Given the description of an element on the screen output the (x, y) to click on. 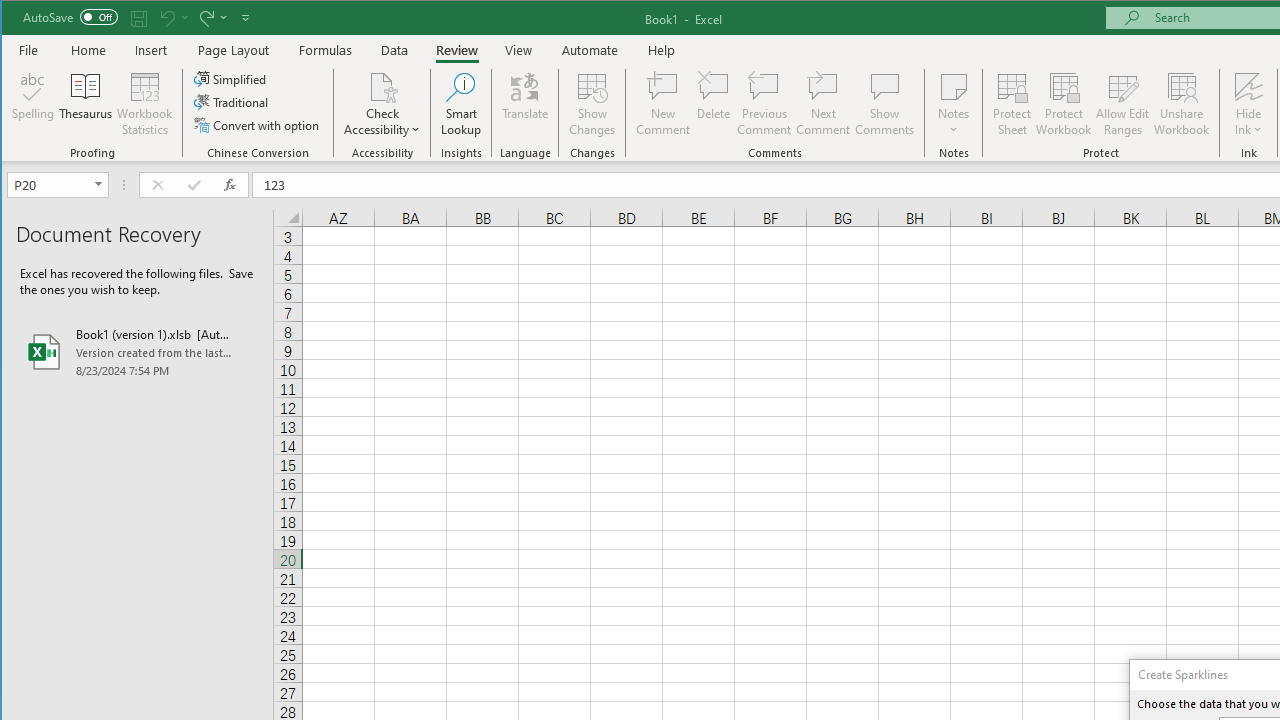
Check Accessibility (381, 86)
Protect Sheet... (1012, 104)
